Given the description of an element on the screen output the (x, y) to click on. 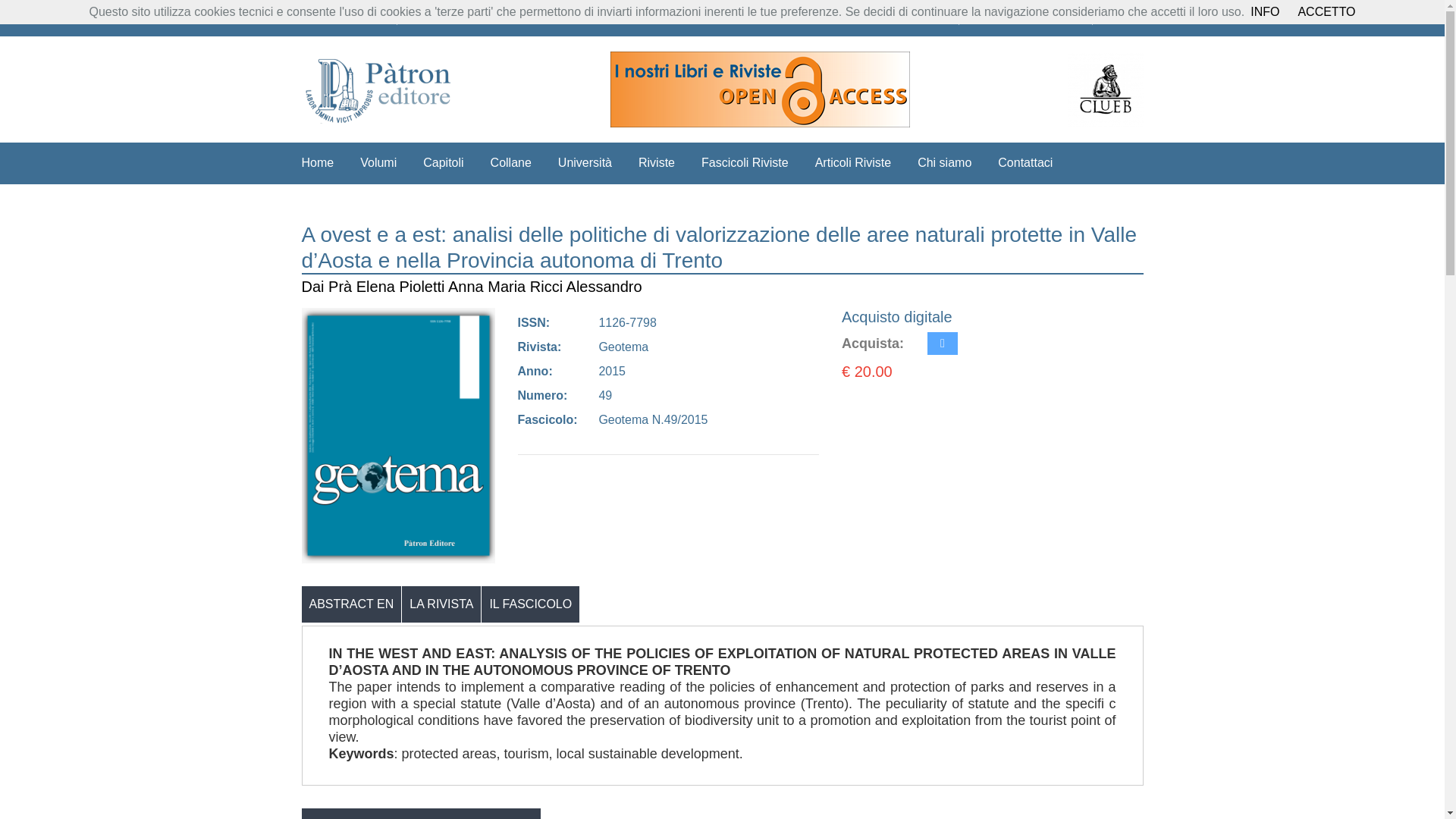
Riviste (657, 162)
 Registrazione Cliente (1028, 18)
 Registrazione Libreria (893, 18)
 Entra (1122, 18)
ABSTRACT EN (351, 604)
Pioletti Anna Maria (461, 286)
Articoli Riviste (853, 162)
LA RIVISTA (440, 604)
Contattaci (1024, 162)
Capitoli (443, 162)
